Given the description of an element on the screen output the (x, y) to click on. 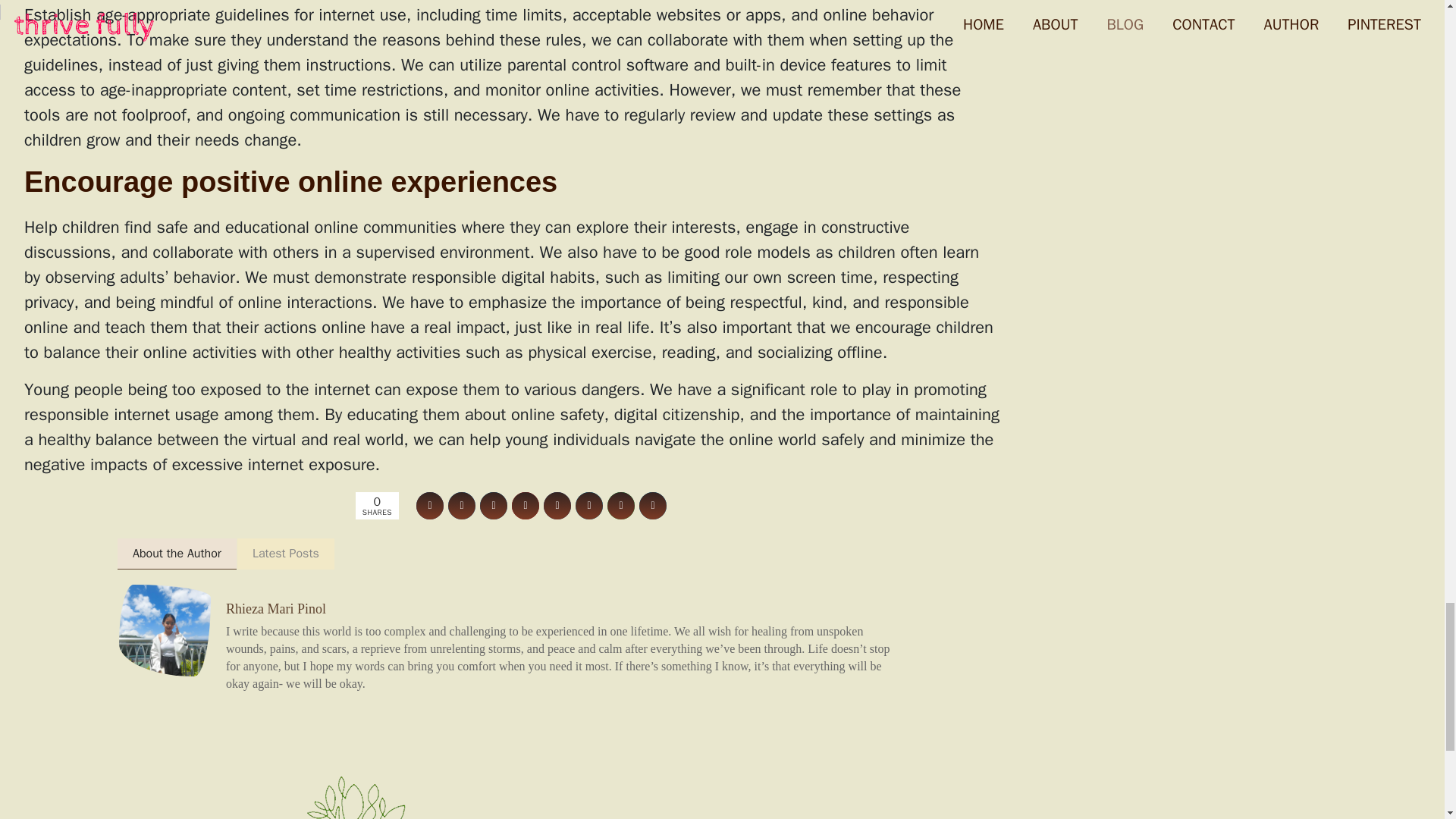
Rhieza Mari Pinol (275, 608)
